Given the description of an element on the screen output the (x, y) to click on. 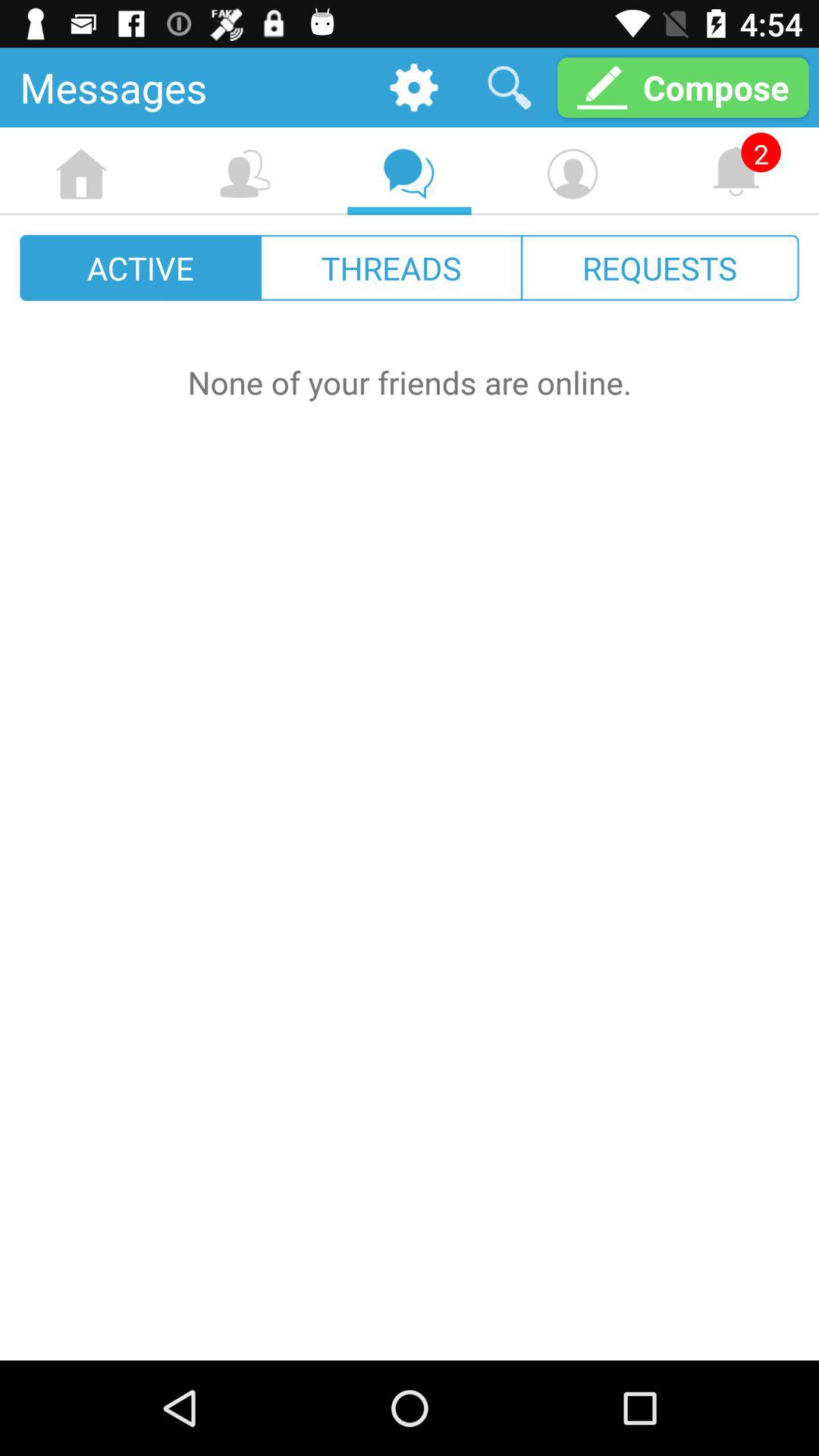
turn off requests (659, 267)
